Given the description of an element on the screen output the (x, y) to click on. 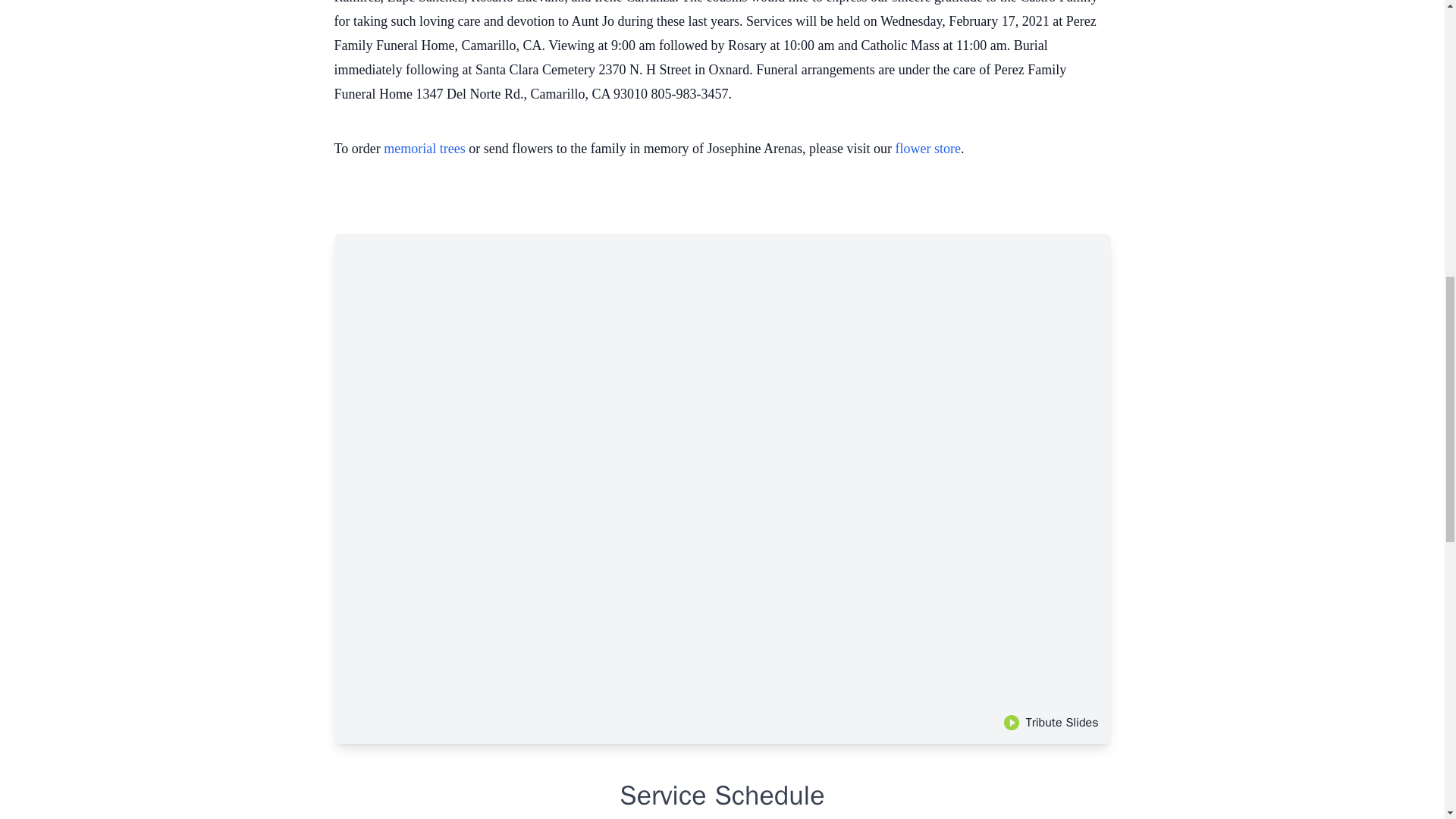
flower store (927, 148)
memorial trees (424, 148)
